Given the description of an element on the screen output the (x, y) to click on. 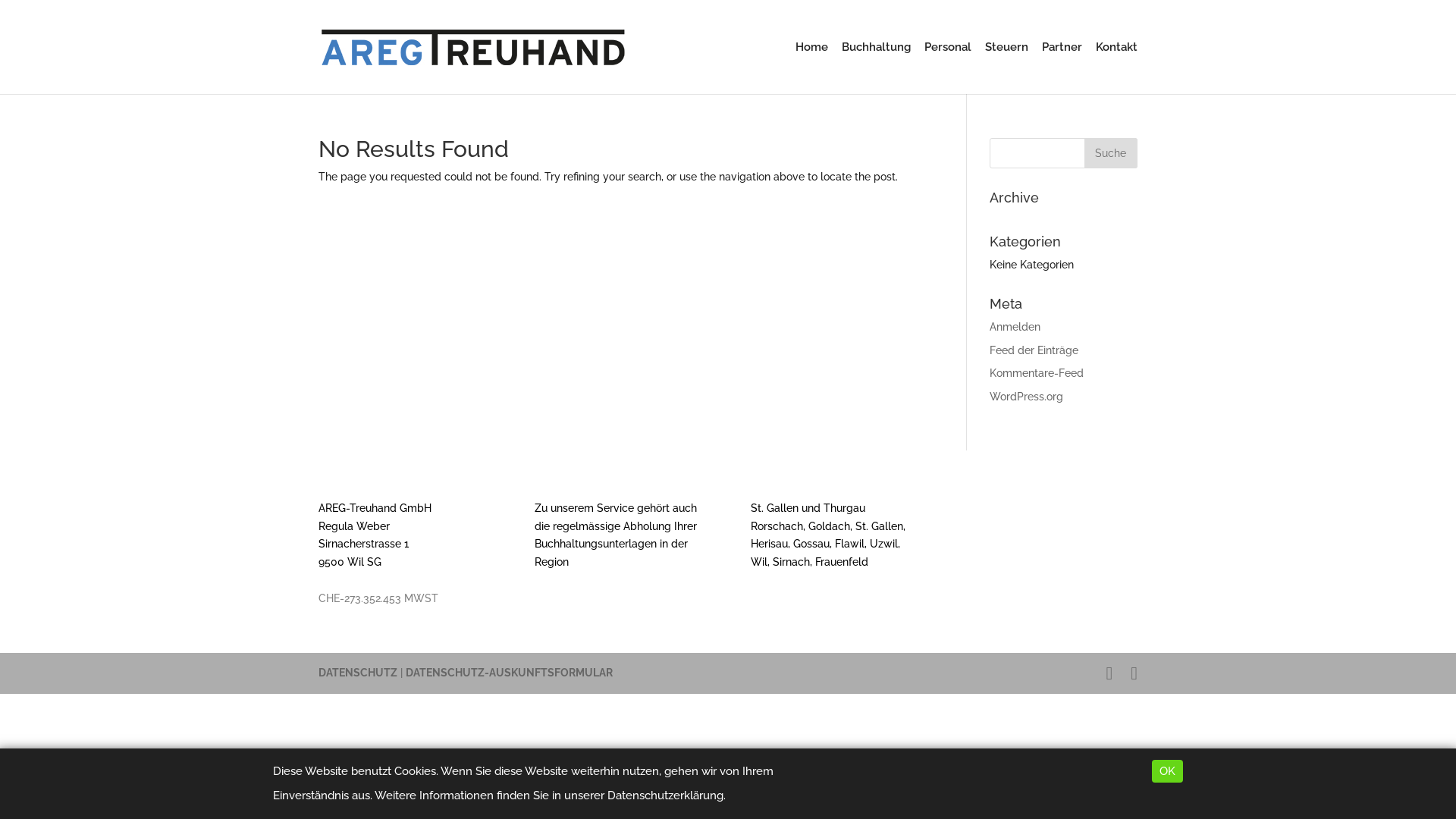
DATENSCHUTZ Element type: text (357, 672)
Partner Element type: text (1061, 67)
LinkedIn Element type: hover (1133, 673)
DATENSCHUTZ-AUSKUNFTSFORMULAR Element type: text (508, 672)
OK Element type: text (1167, 770)
Personal Element type: text (947, 67)
Anmelden Element type: text (1014, 326)
Home Element type: text (811, 67)
WordPress.org Element type: text (1026, 396)
Suche Element type: text (1110, 153)
Kontakt Element type: text (1116, 67)
Steuern Element type: text (1006, 67)
Buchhaltung Element type: text (875, 67)
Kommentare-Feed Element type: text (1036, 373)
Facebook Element type: hover (1108, 673)
